Given the description of an element on the screen output the (x, y) to click on. 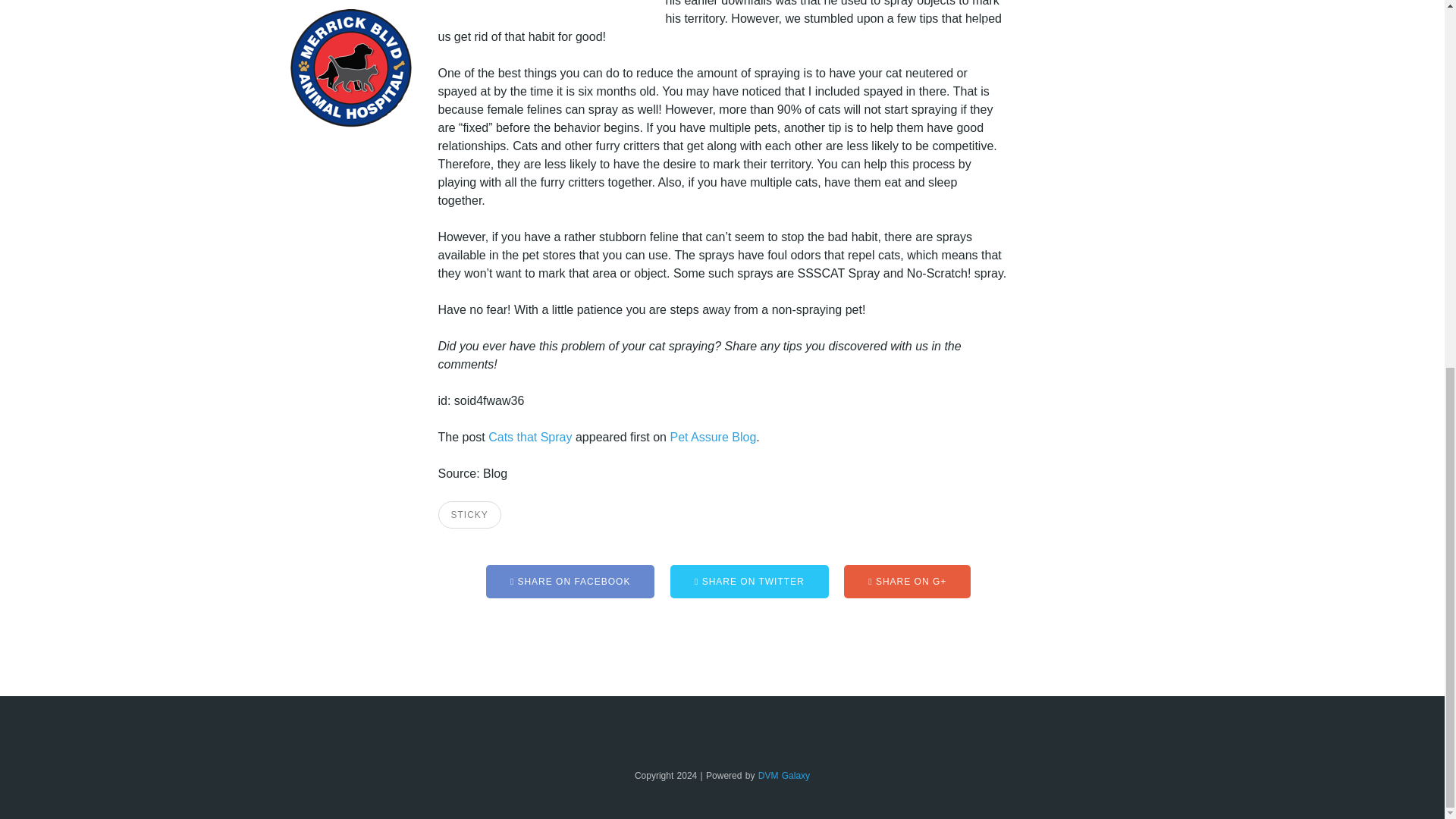
SHARE ON TWITTER (748, 581)
Cats that Spray (529, 436)
SHARE ON FACEBOOK (570, 581)
DVM Galaxy (783, 775)
Pet Assure Blog (712, 436)
STICKY (469, 514)
